Given the description of an element on the screen output the (x, y) to click on. 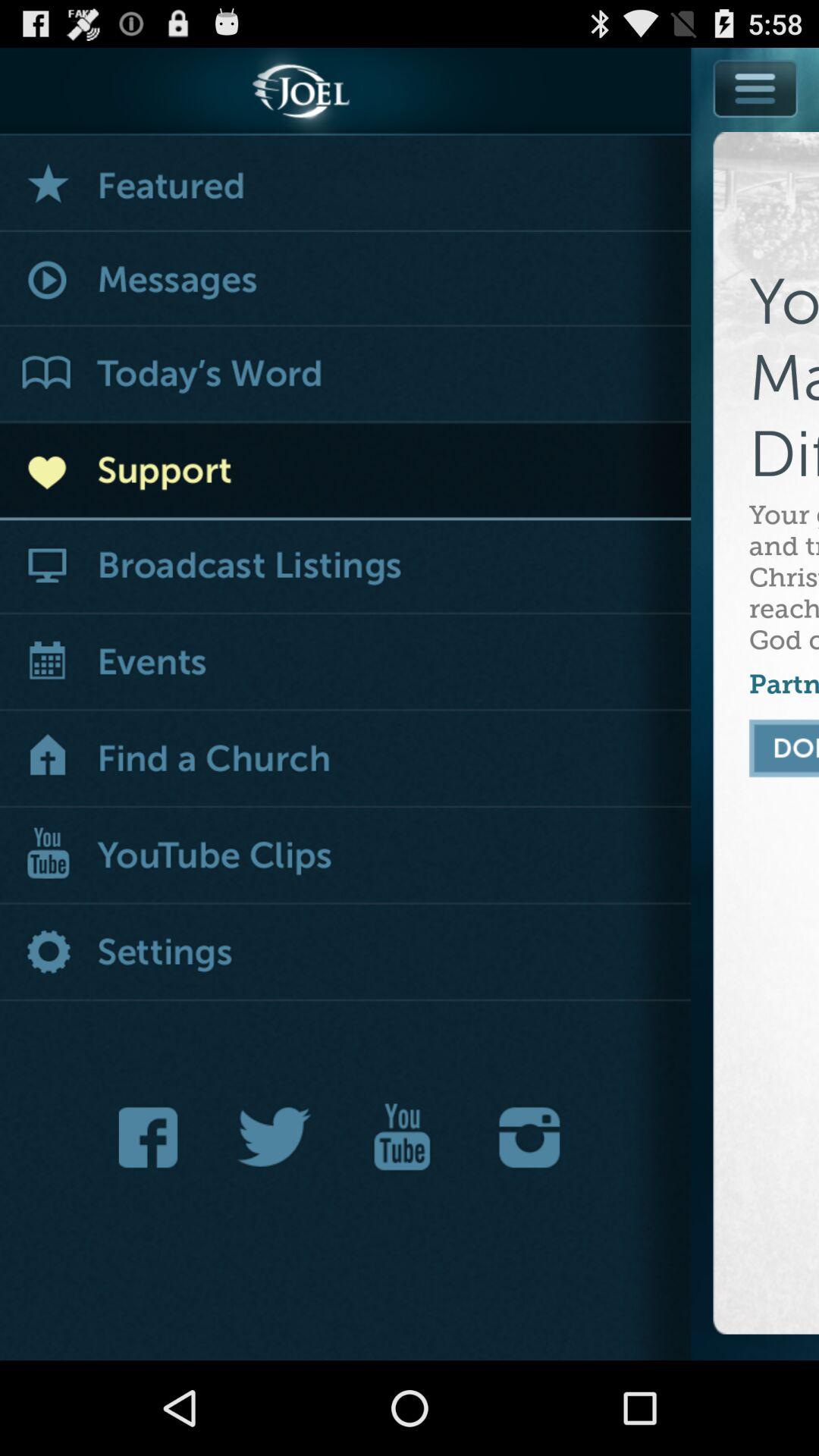
open menu (755, 122)
